Given the description of an element on the screen output the (x, y) to click on. 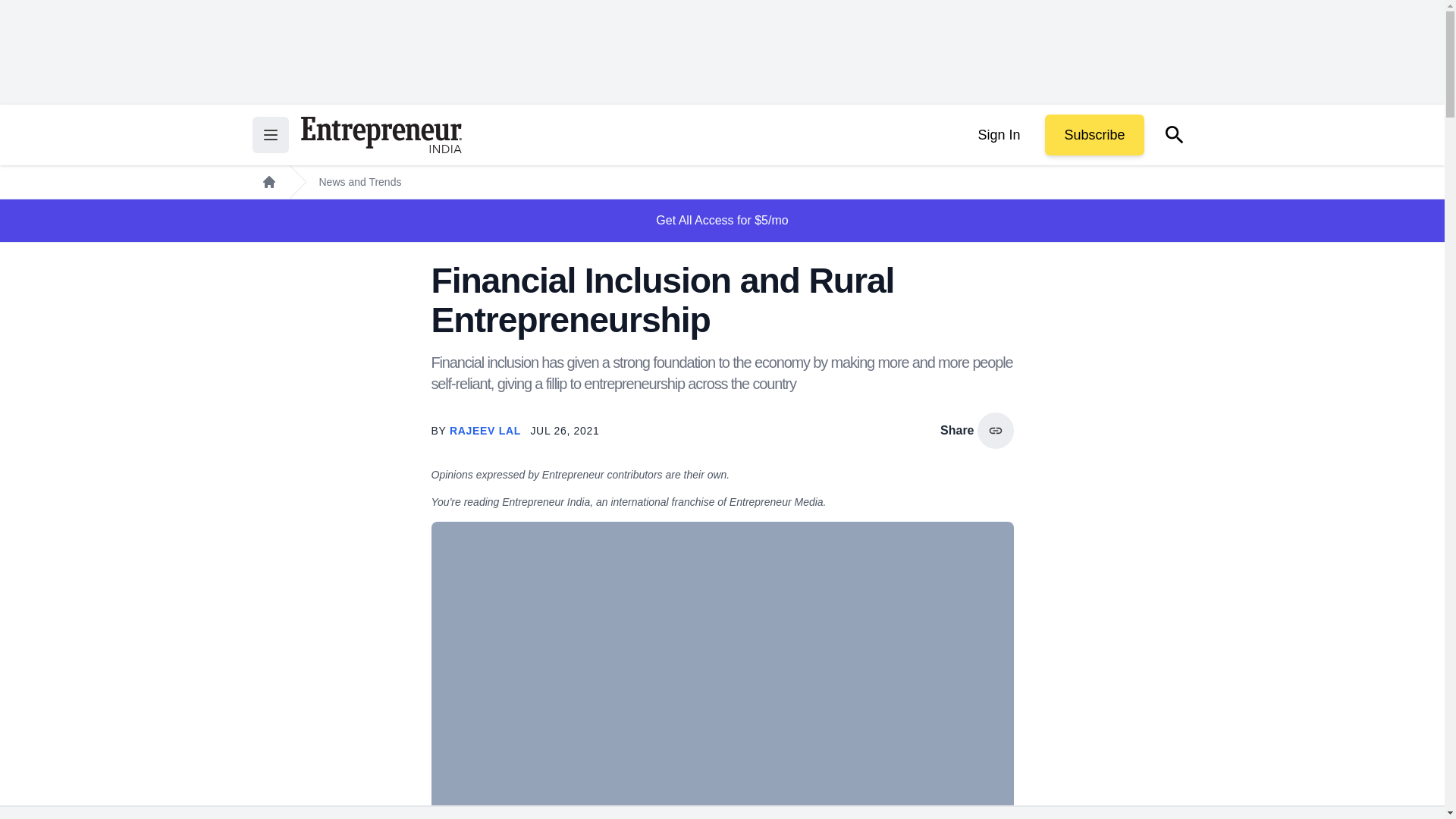
Subscribe (1093, 134)
copy (994, 430)
Sign In (998, 134)
Return to the home page (380, 135)
